Given the description of an element on the screen output the (x, y) to click on. 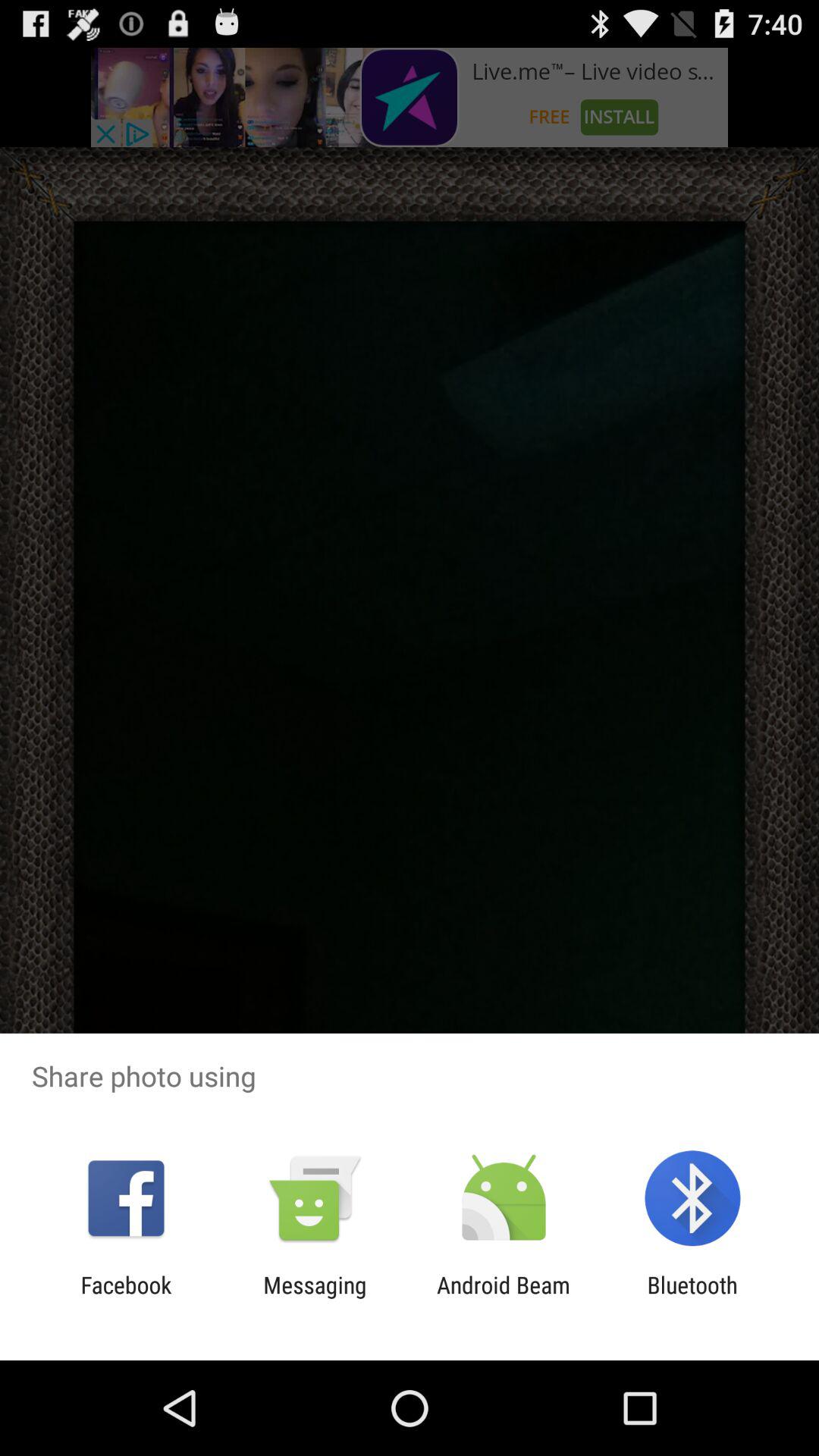
click item next to facebook (314, 1298)
